Given the description of an element on the screen output the (x, y) to click on. 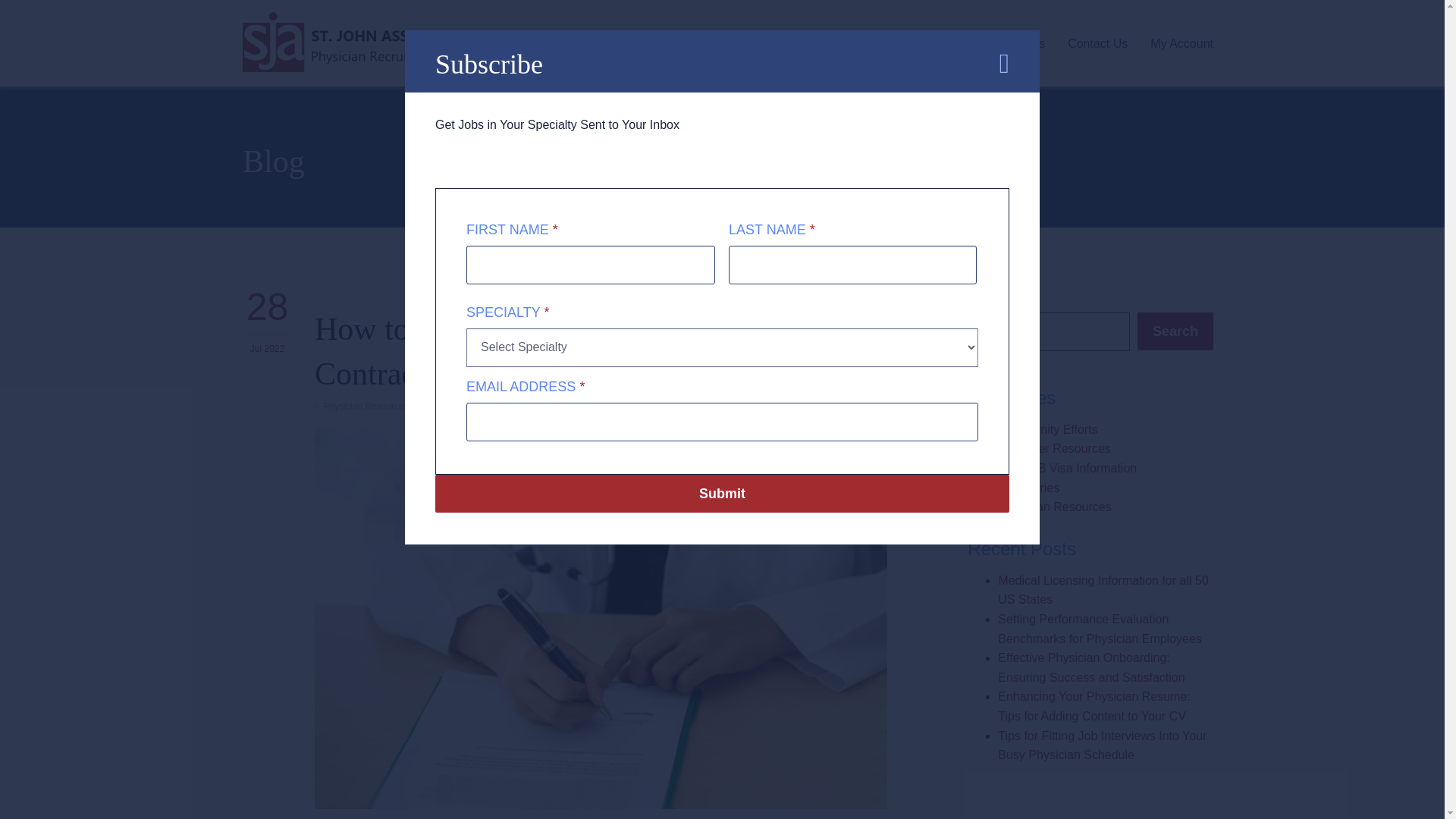
Search Physician Jobs (707, 42)
For Employers (933, 42)
For Physicians (830, 42)
Contact Us (1097, 42)
